Given the description of an element on the screen output the (x, y) to click on. 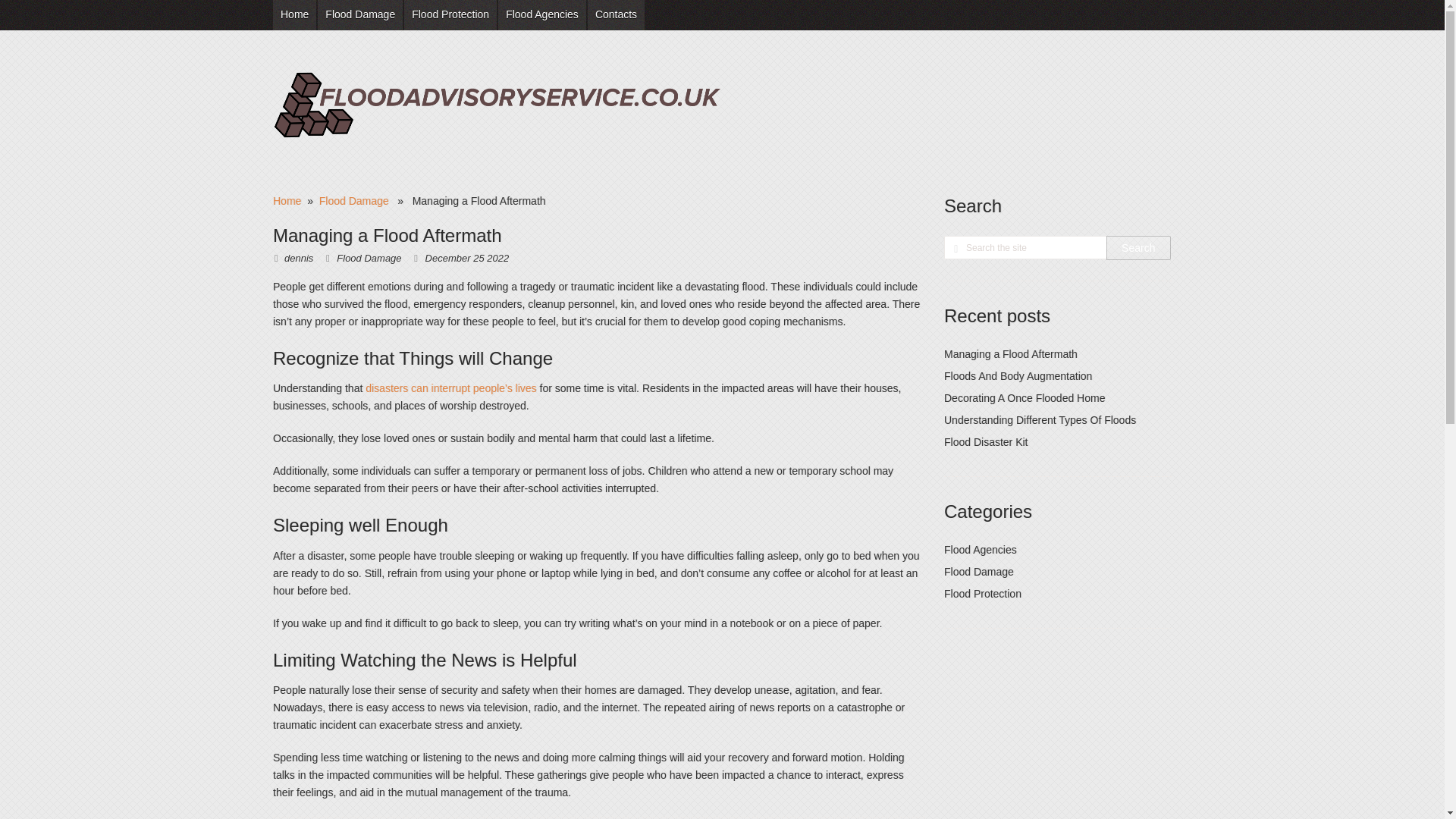
Flood Damage (360, 15)
Flood Protection (982, 593)
Understanding Different Types Of Floods (1039, 419)
Search (1138, 247)
Home (287, 200)
Search the site (1024, 247)
Search (1138, 247)
dennis (298, 257)
Flood Damage (353, 200)
Flood Protection (450, 15)
